Given the description of an element on the screen output the (x, y) to click on. 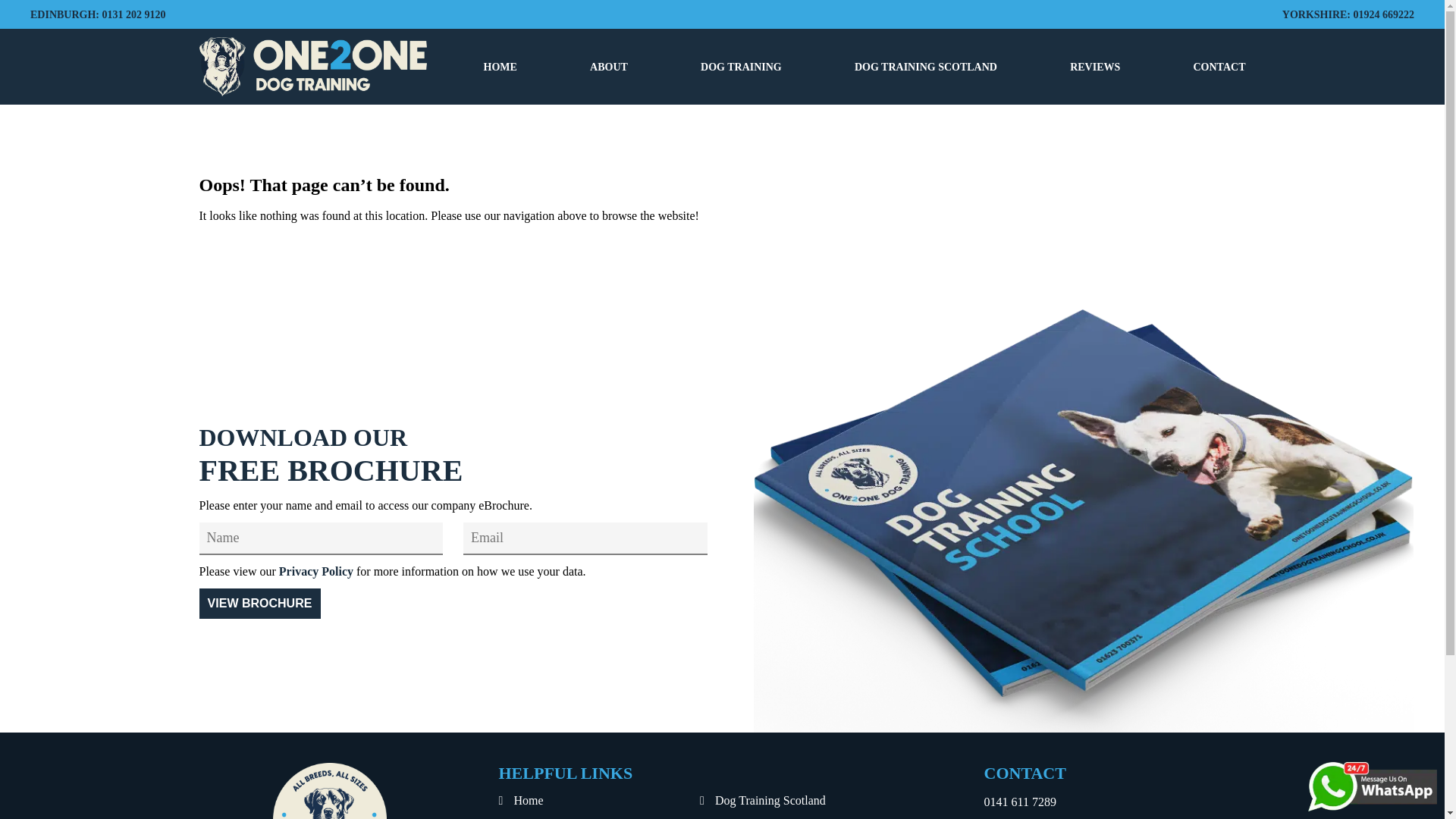
CONTACT (1219, 66)
View Brochure (259, 603)
EDINBURGH: 0131 202 9120 (97, 14)
Dog Training Scotland (800, 800)
DOG TRAINING SCOTLAND (925, 66)
HOME (499, 66)
Privacy Policy (316, 571)
YORKSHIRE: 01924 669222 (1347, 14)
DOG TRAINING (740, 66)
ABOUT (608, 66)
REVIEWS (1094, 66)
View Brochure (259, 603)
Home (599, 800)
